Given the description of an element on the screen output the (x, y) to click on. 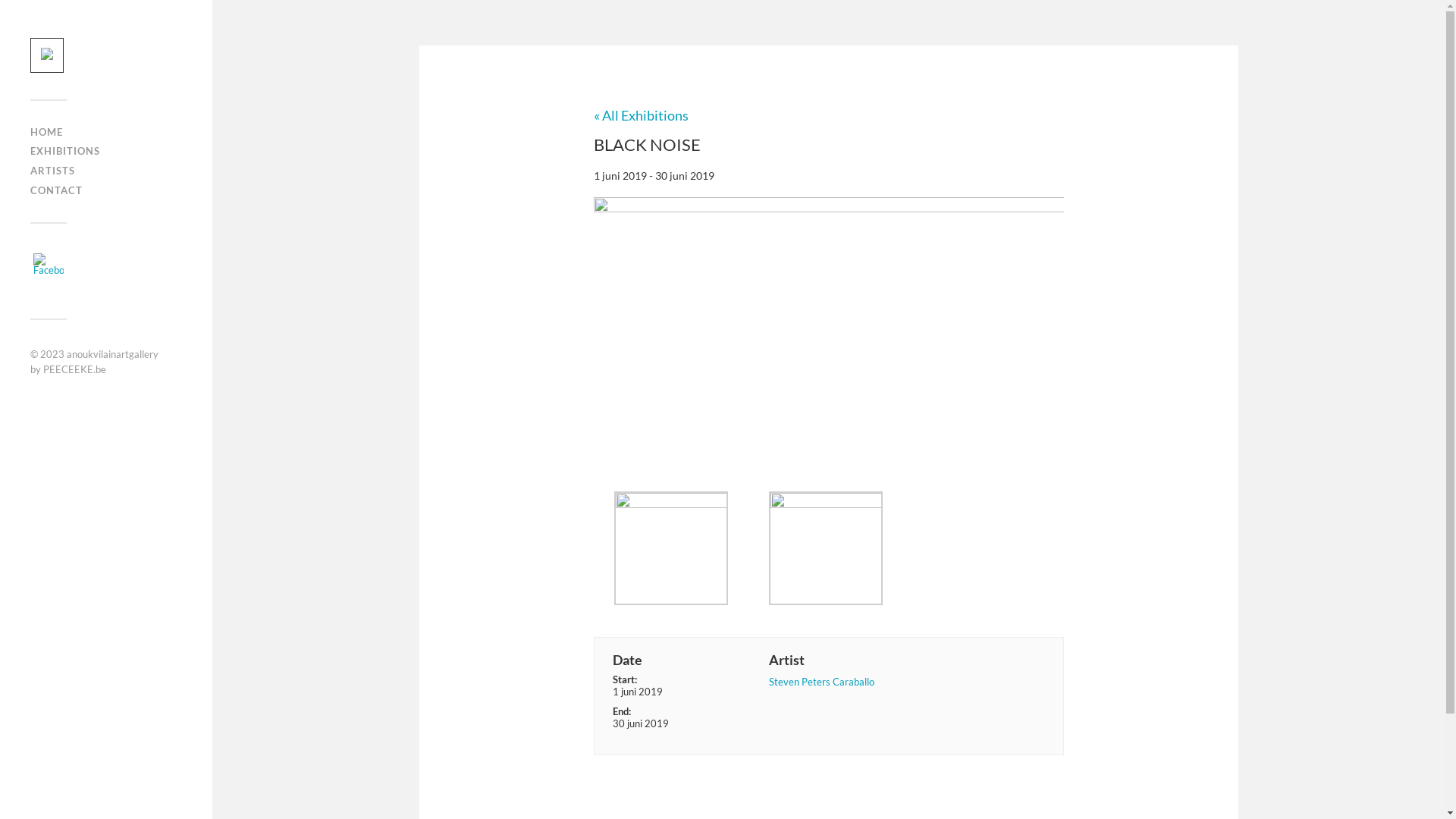
Facebook Element type: hover (48, 264)
CONTACT Element type: text (56, 190)
HOME Element type: text (46, 131)
Steven Peters Caraballo Element type: text (821, 680)
anoukvilainartgallery Element type: text (112, 354)
ARTISTS Element type: text (52, 170)
anoukvilainartgallery Element type: hover (46, 54)
EXHIBITIONS Element type: text (65, 150)
PEECEEKE.be Element type: text (74, 369)
